Given the description of an element on the screen output the (x, y) to click on. 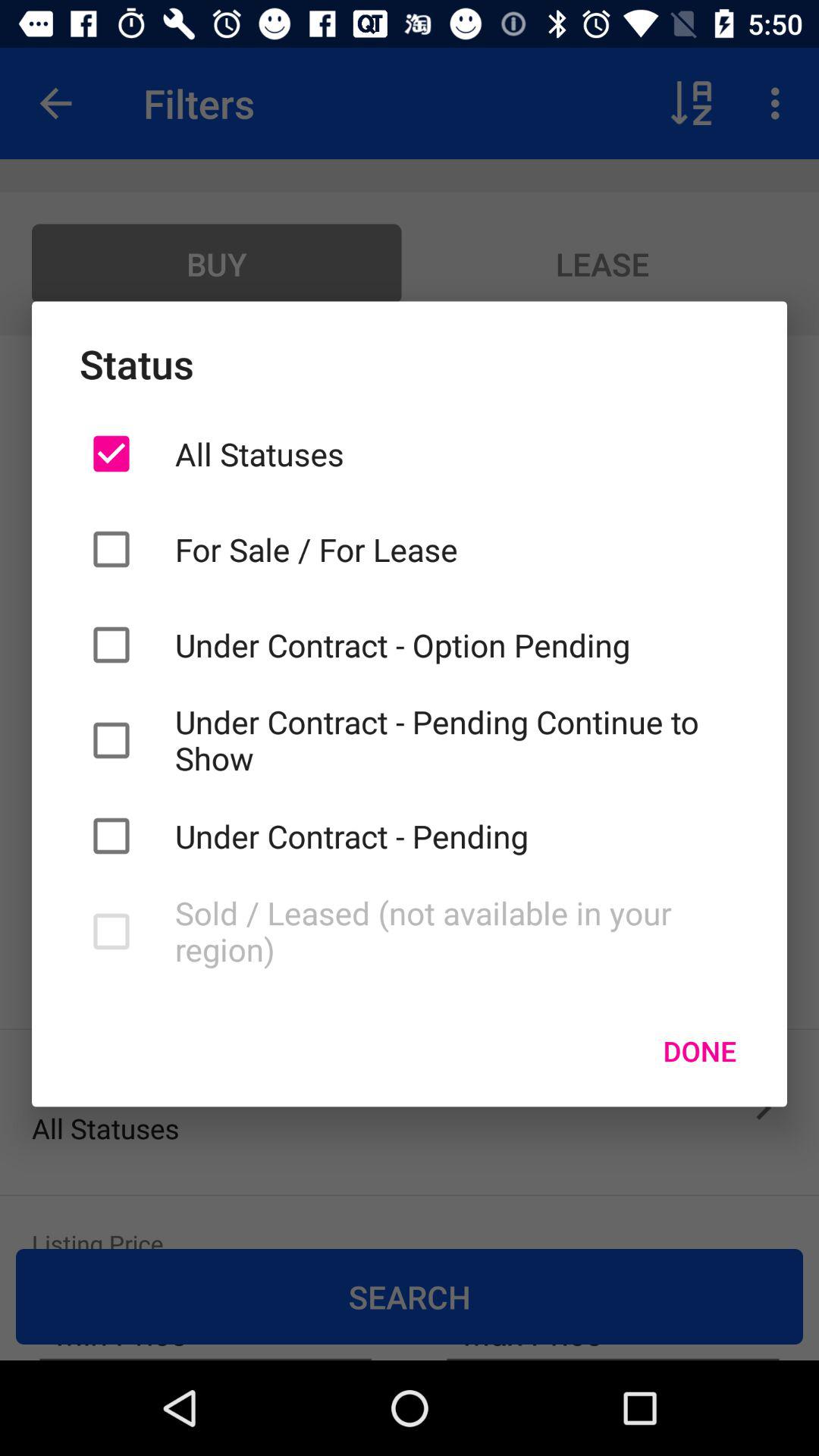
jump until sold leased not icon (457, 931)
